Given the description of an element on the screen output the (x, y) to click on. 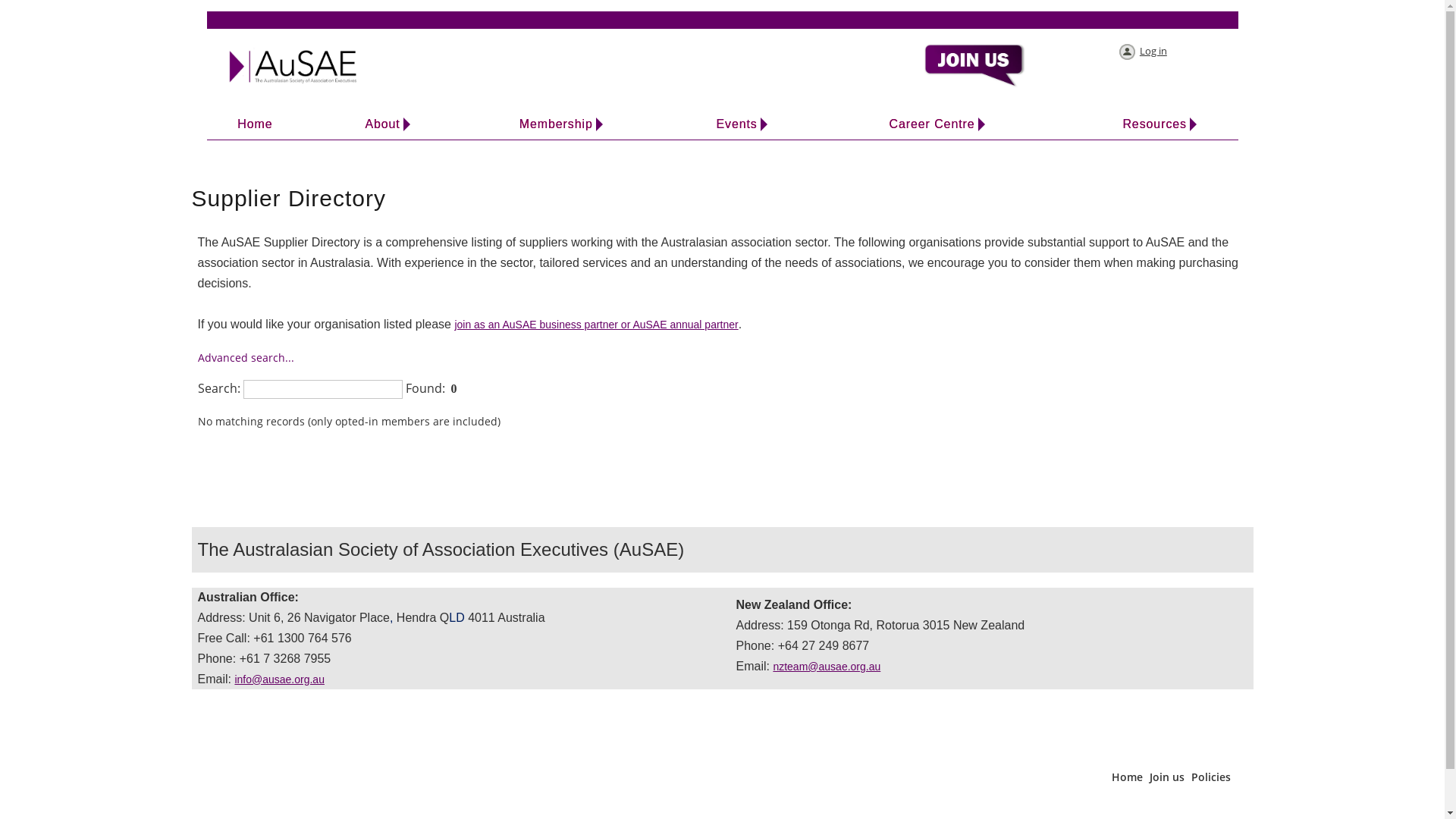
Career Centre Element type: text (931, 124)
Policies Element type: text (1210, 776)
join as an AuSAE business partner or AuSAE annual partner Element type: text (595, 324)
Join us Element type: text (1166, 776)
Home Element type: text (1126, 776)
Home Element type: text (254, 124)
About Element type: text (382, 124)
Membership Element type: text (555, 124)
nzteam@ausae.org.au Element type: text (826, 666)
Events Element type: text (736, 124)
Advanced search... Element type: text (245, 357)
info@ausae.org.au Element type: text (279, 679)
Resources Element type: text (1154, 124)
Log in Element type: text (1142, 52)
